Given the description of an element on the screen output the (x, y) to click on. 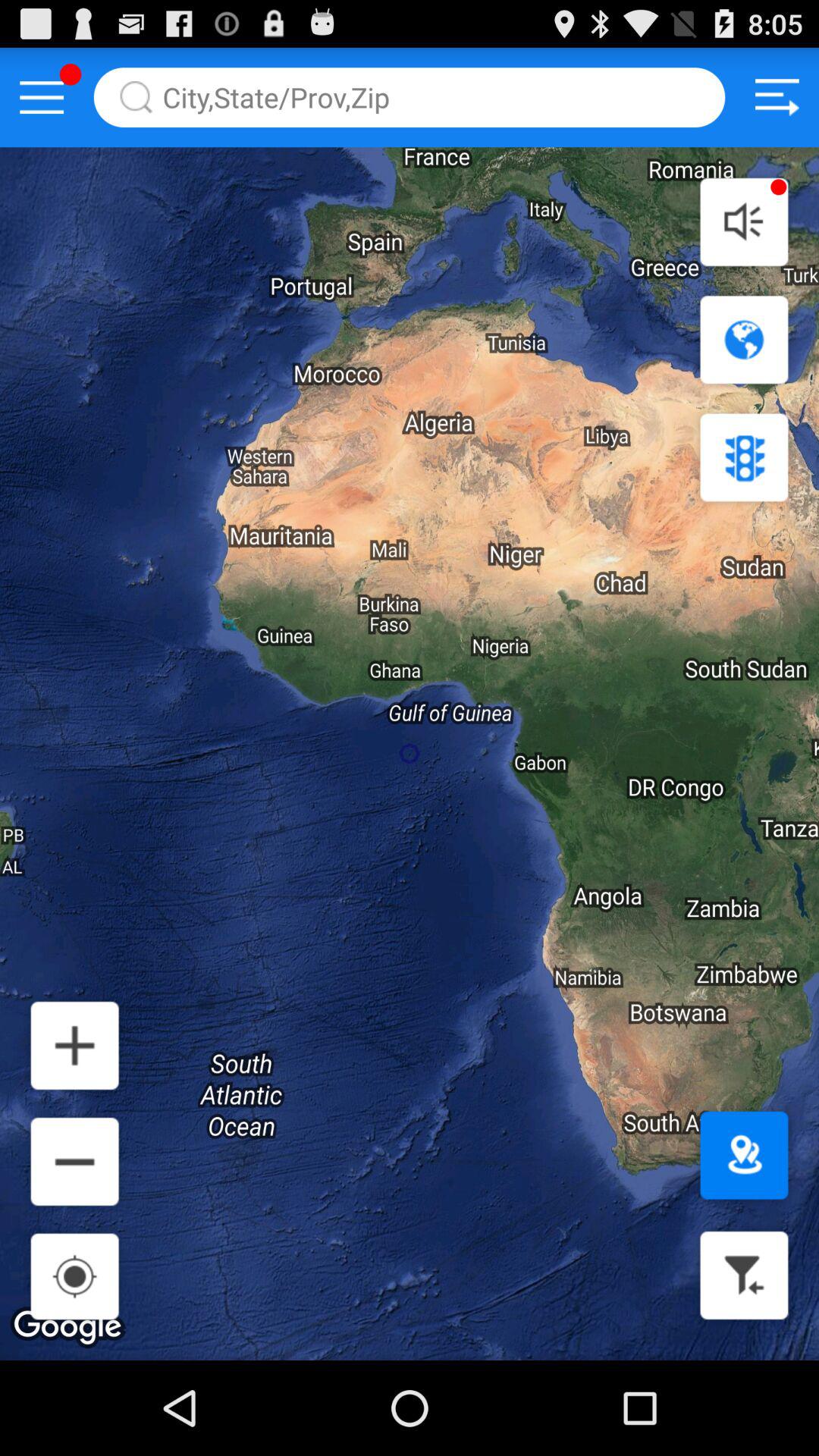
set destination (744, 1155)
